Given the description of an element on the screen output the (x, y) to click on. 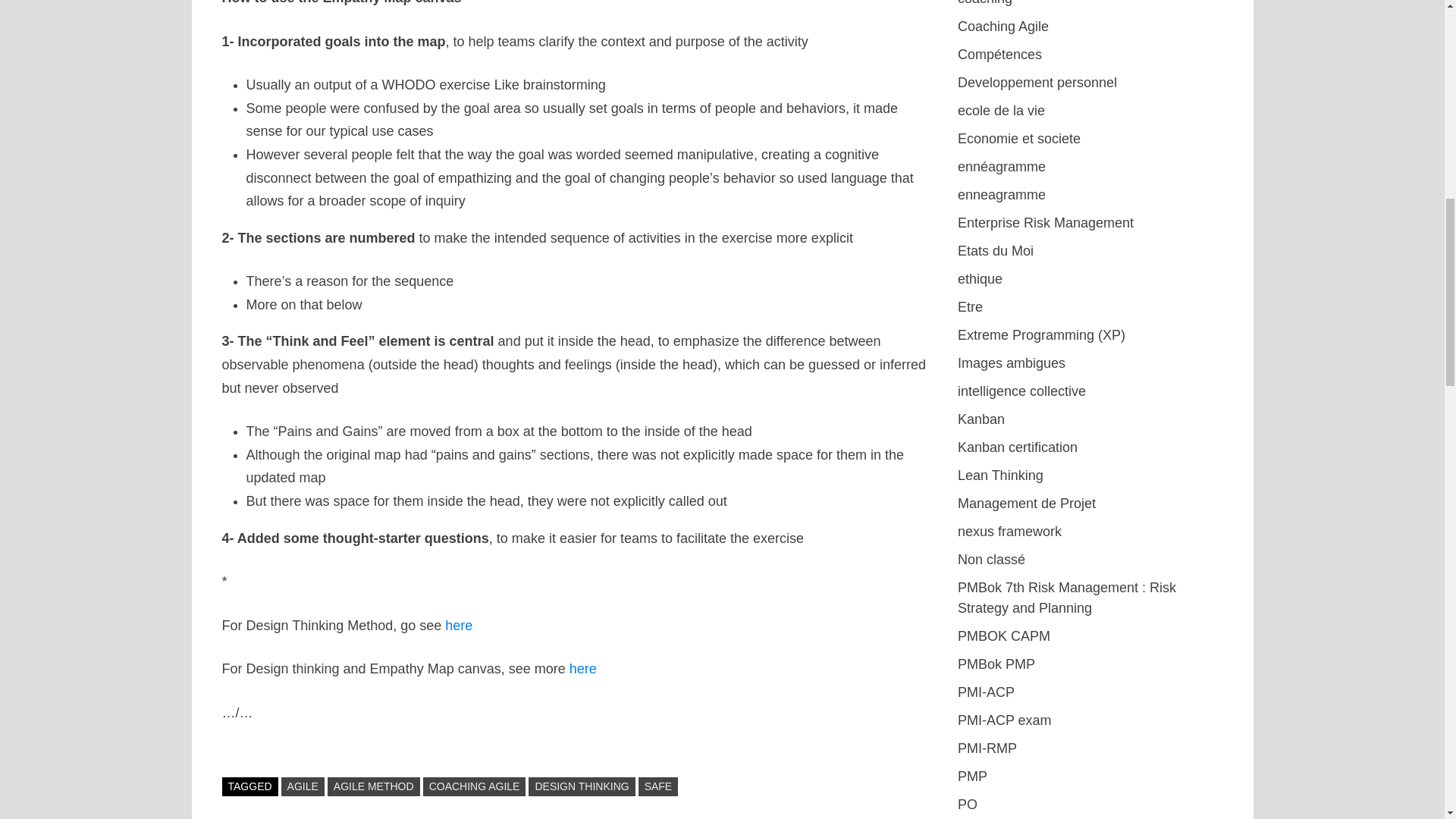
here (458, 625)
AGILE METHOD (373, 786)
here (582, 668)
SAFE (658, 786)
COACHING AGILE (474, 786)
AGILE (302, 786)
DESIGN THINKING (581, 786)
